Given the description of an element on the screen output the (x, y) to click on. 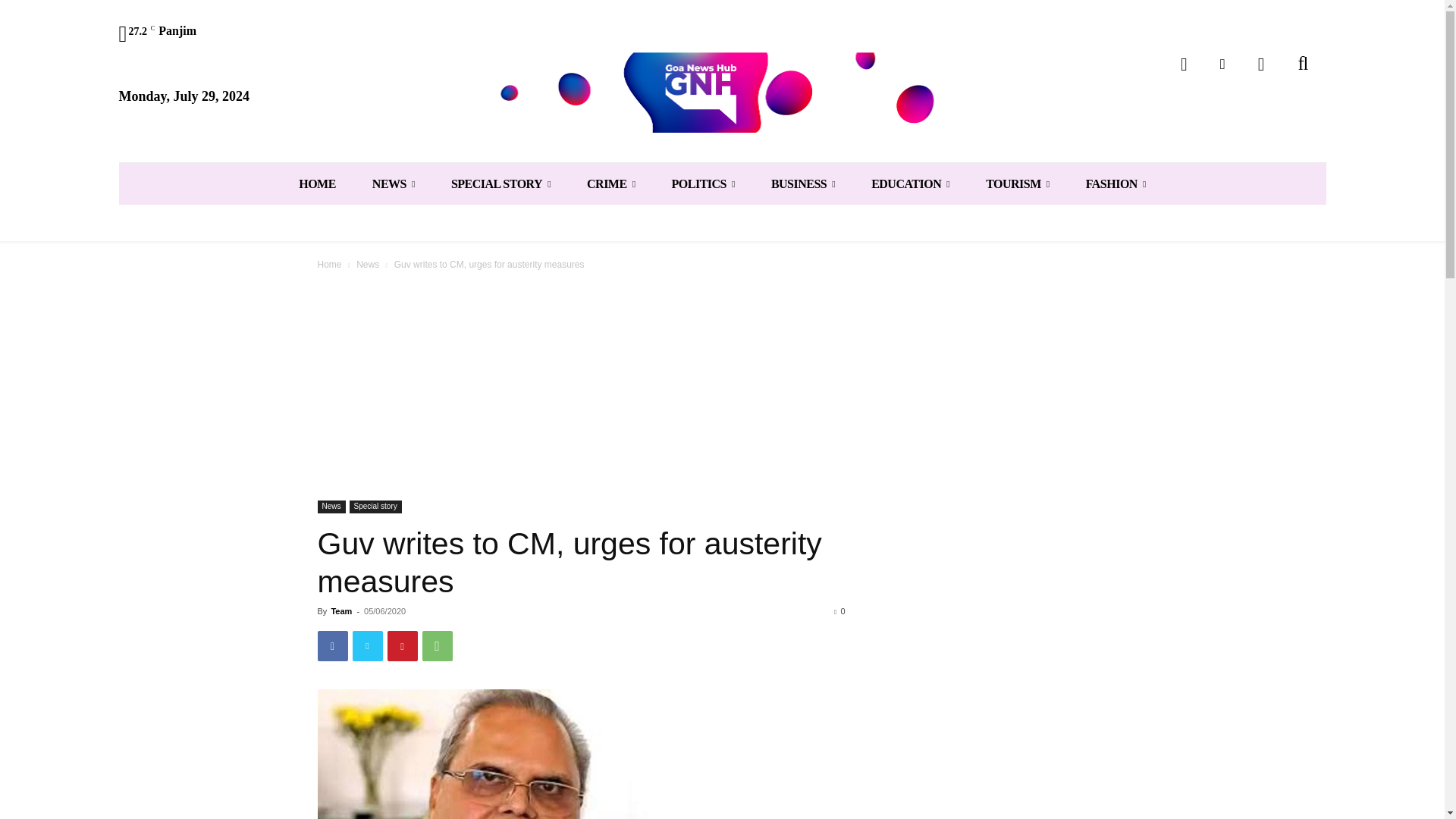
Facebook (1184, 63)
Twitter (1223, 63)
Goa News Hub (722, 91)
Youtube (1261, 63)
NEWS (392, 183)
HOME (317, 183)
